Given the description of an element on the screen output the (x, y) to click on. 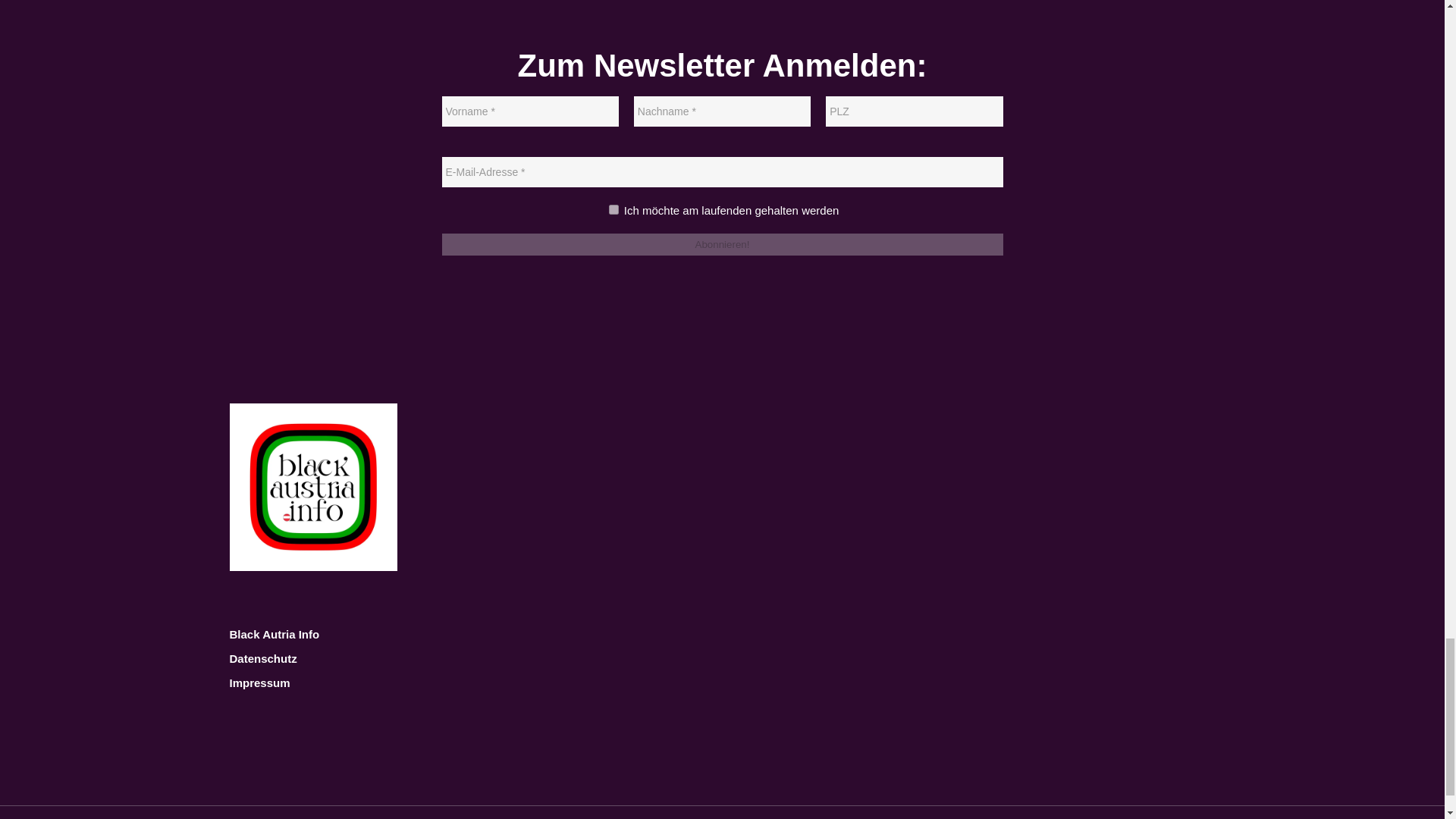
1 (613, 209)
Abonnieren! (722, 244)
